Given the description of an element on the screen output the (x, y) to click on. 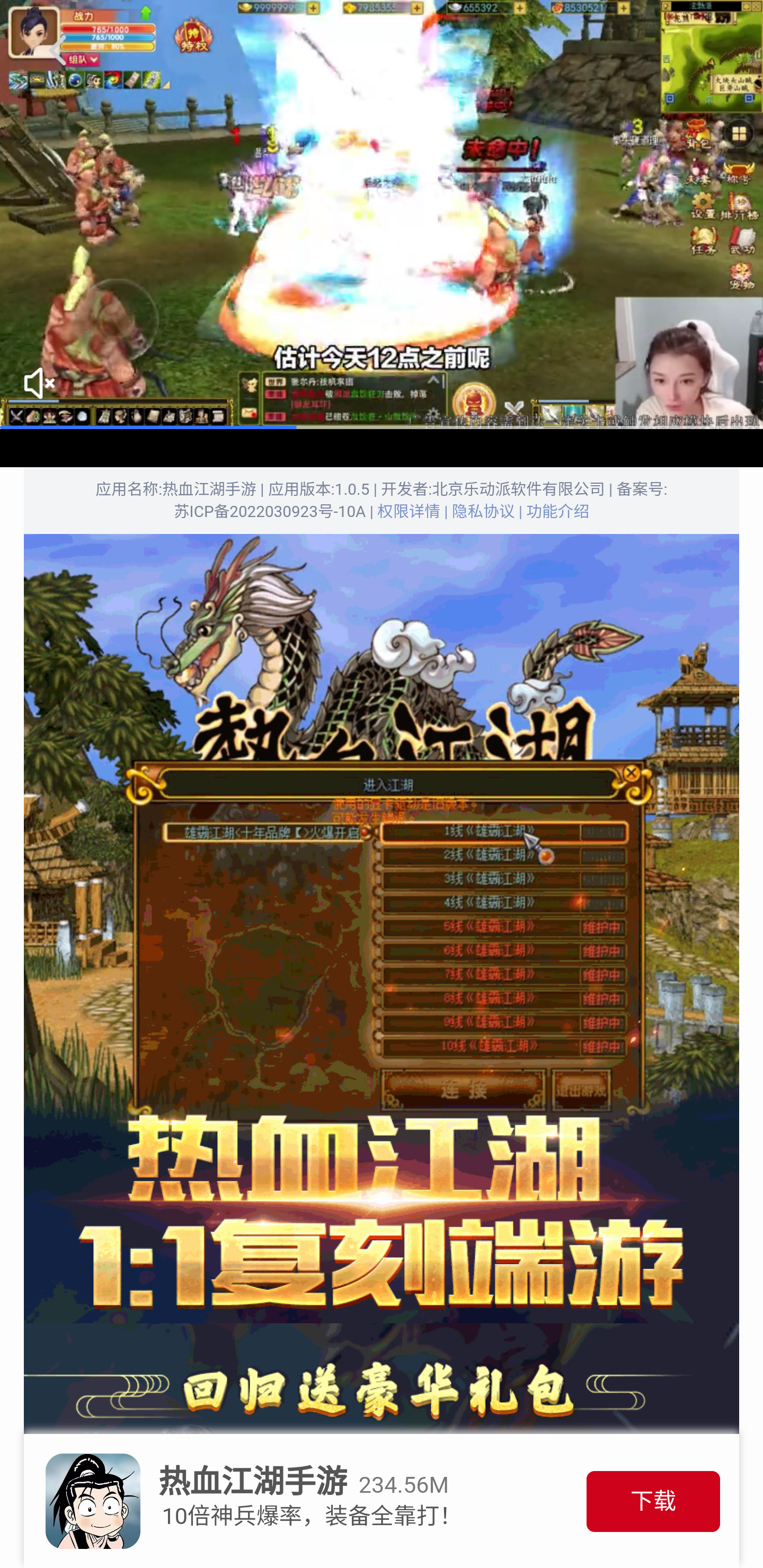
广告 15035.0 (381, 214)
下载 (653, 1500)
